Given the description of an element on the screen output the (x, y) to click on. 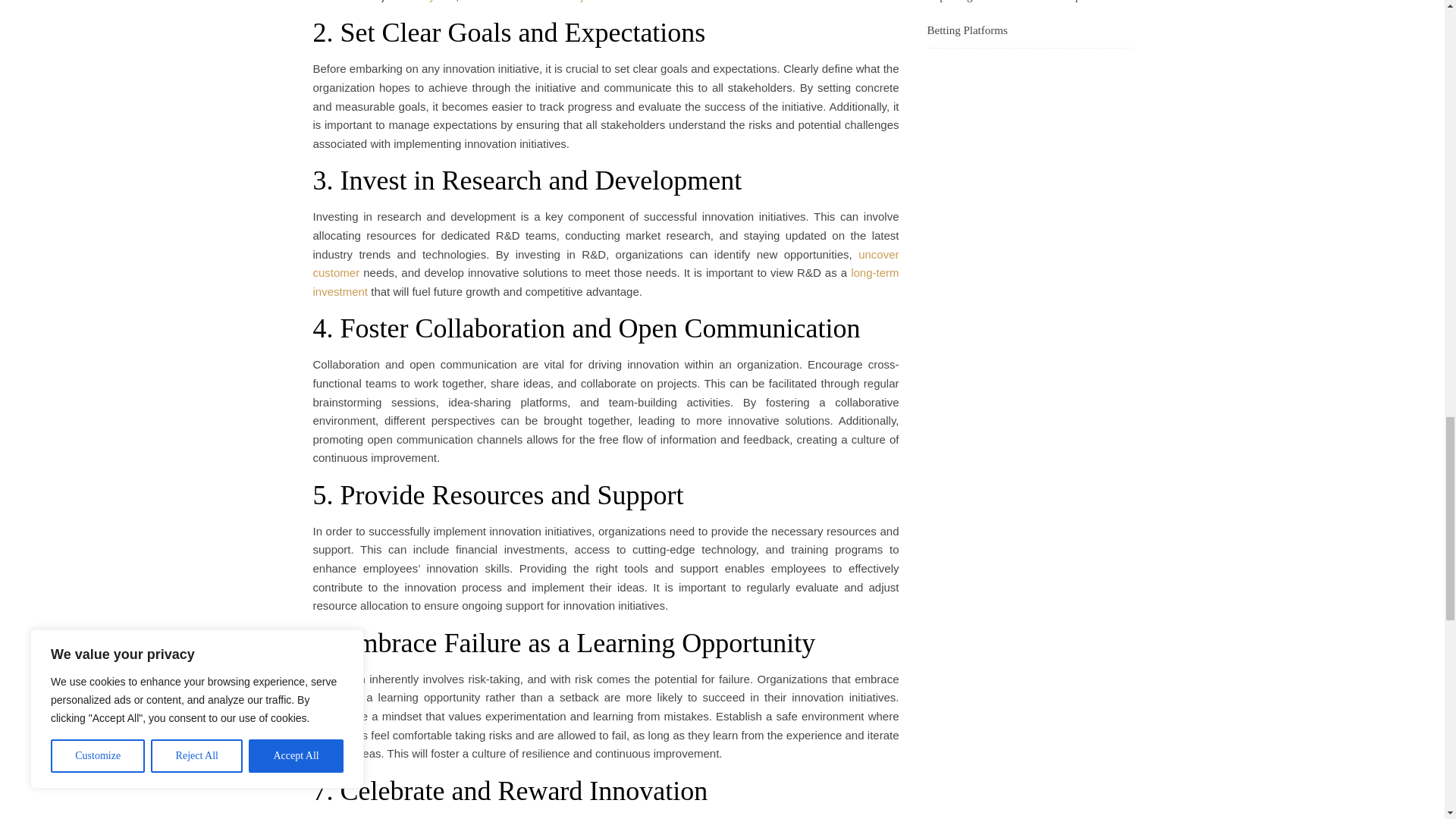
long-term investment (605, 282)
uncover customer (605, 264)
Study this (430, 1)
subject (580, 1)
